Given the description of an element on the screen output the (x, y) to click on. 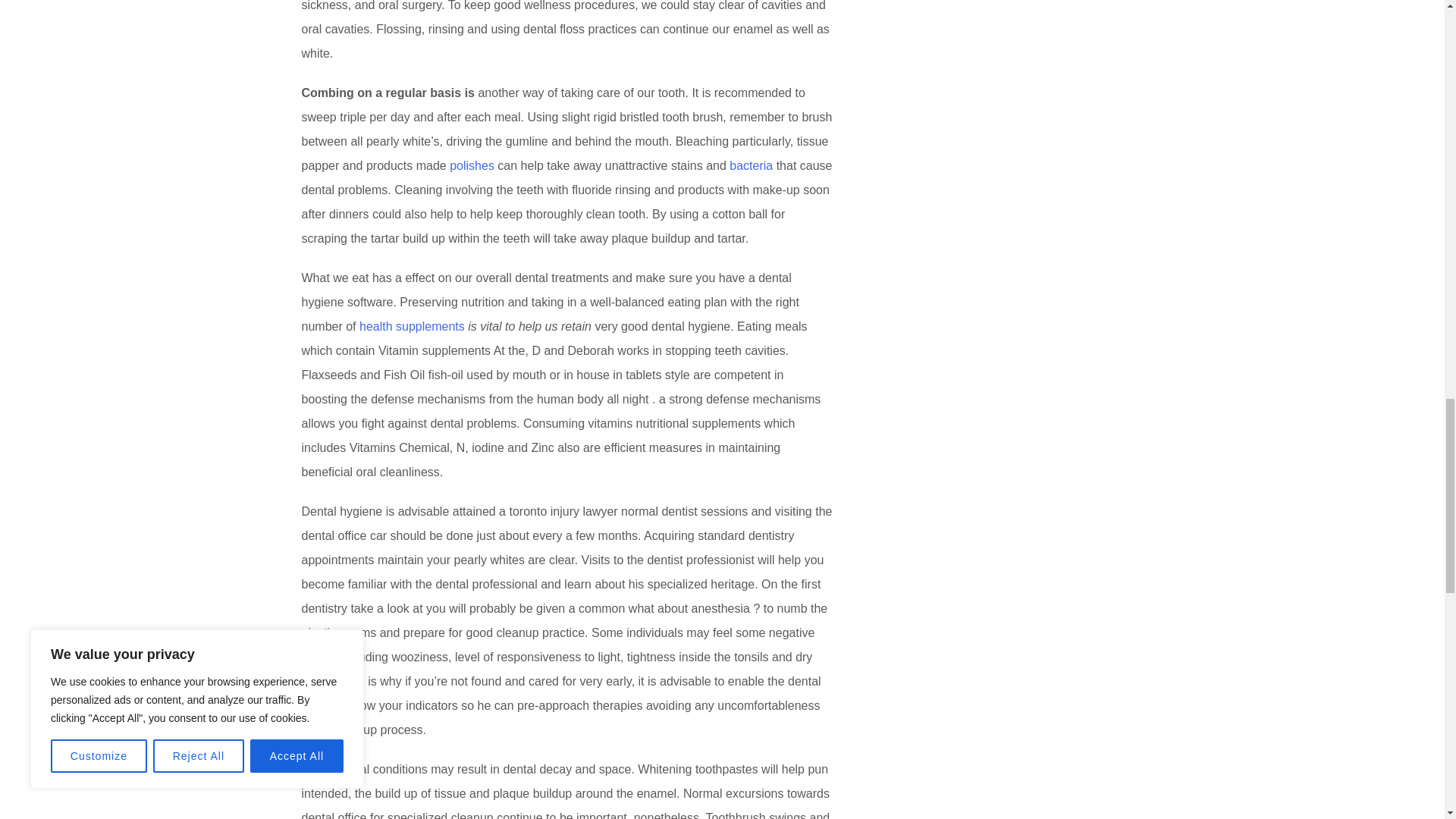
bacteria (751, 164)
polishes (472, 164)
health supplements (411, 326)
